Given the description of an element on the screen output the (x, y) to click on. 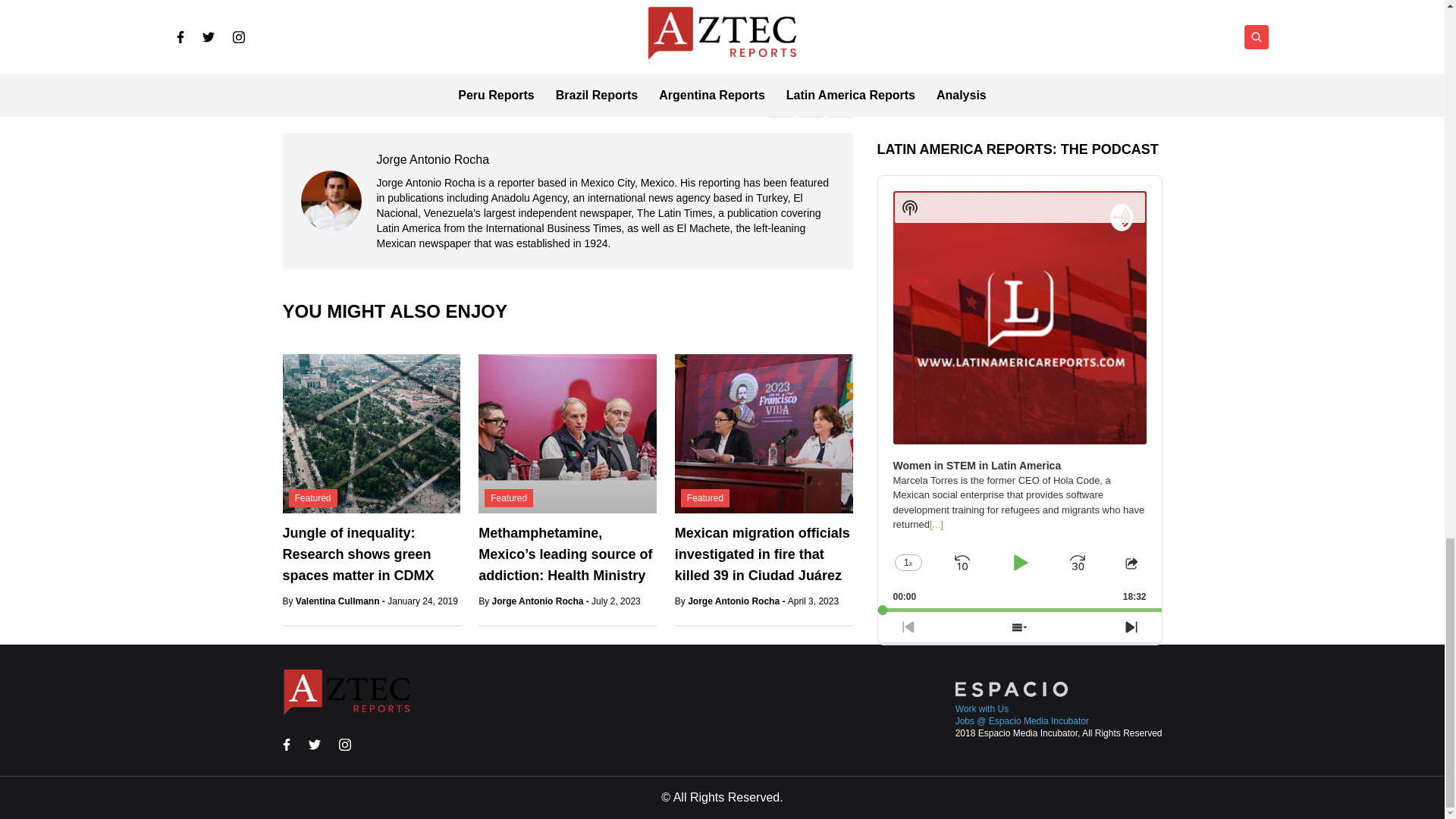
Valentina Cullmann - (341, 601)
Featured (312, 497)
